Given the description of an element on the screen output the (x, y) to click on. 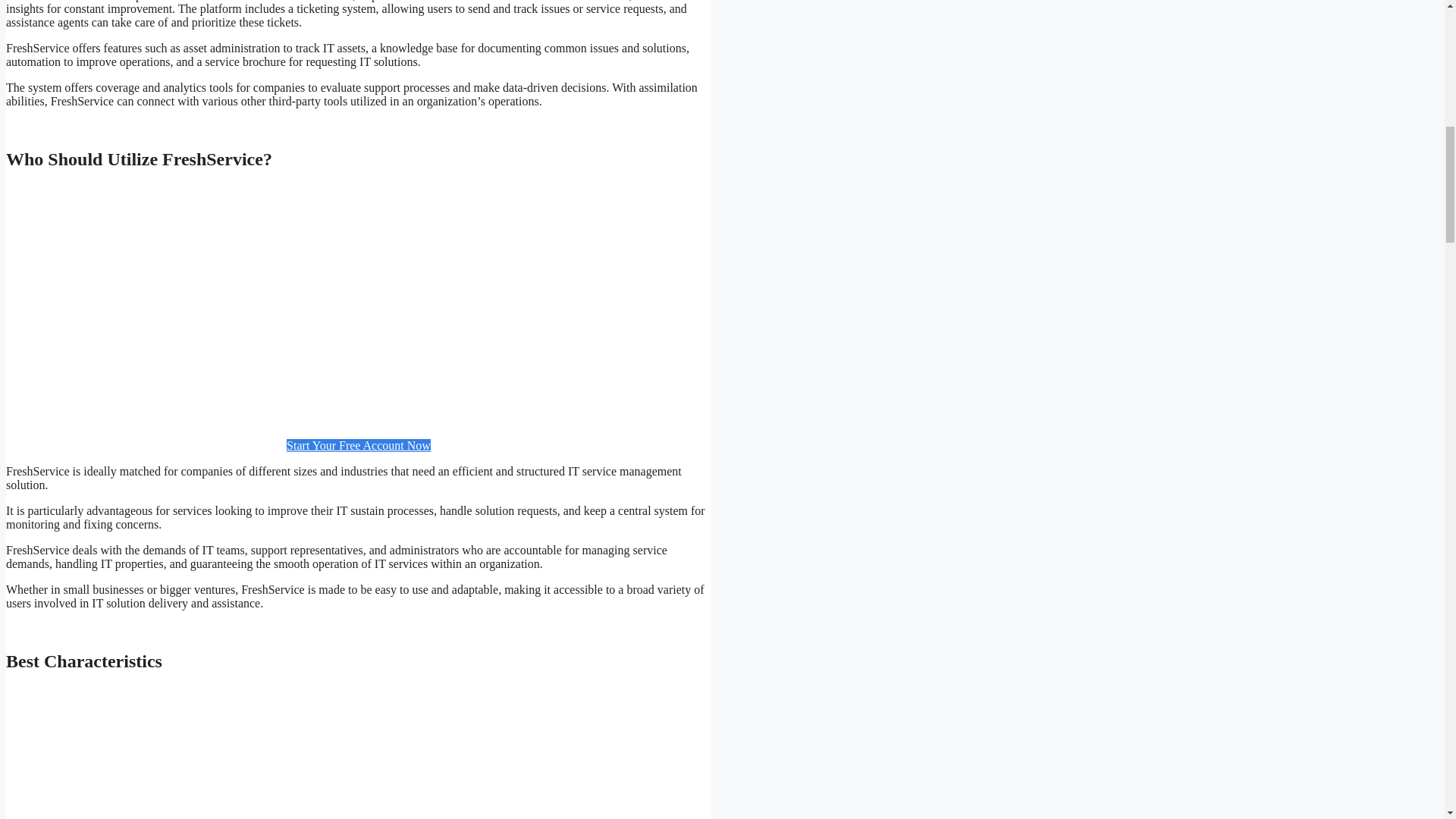
YouTube video player (354, 304)
Start Your Free Account Now (358, 445)
